Given the description of an element on the screen output the (x, y) to click on. 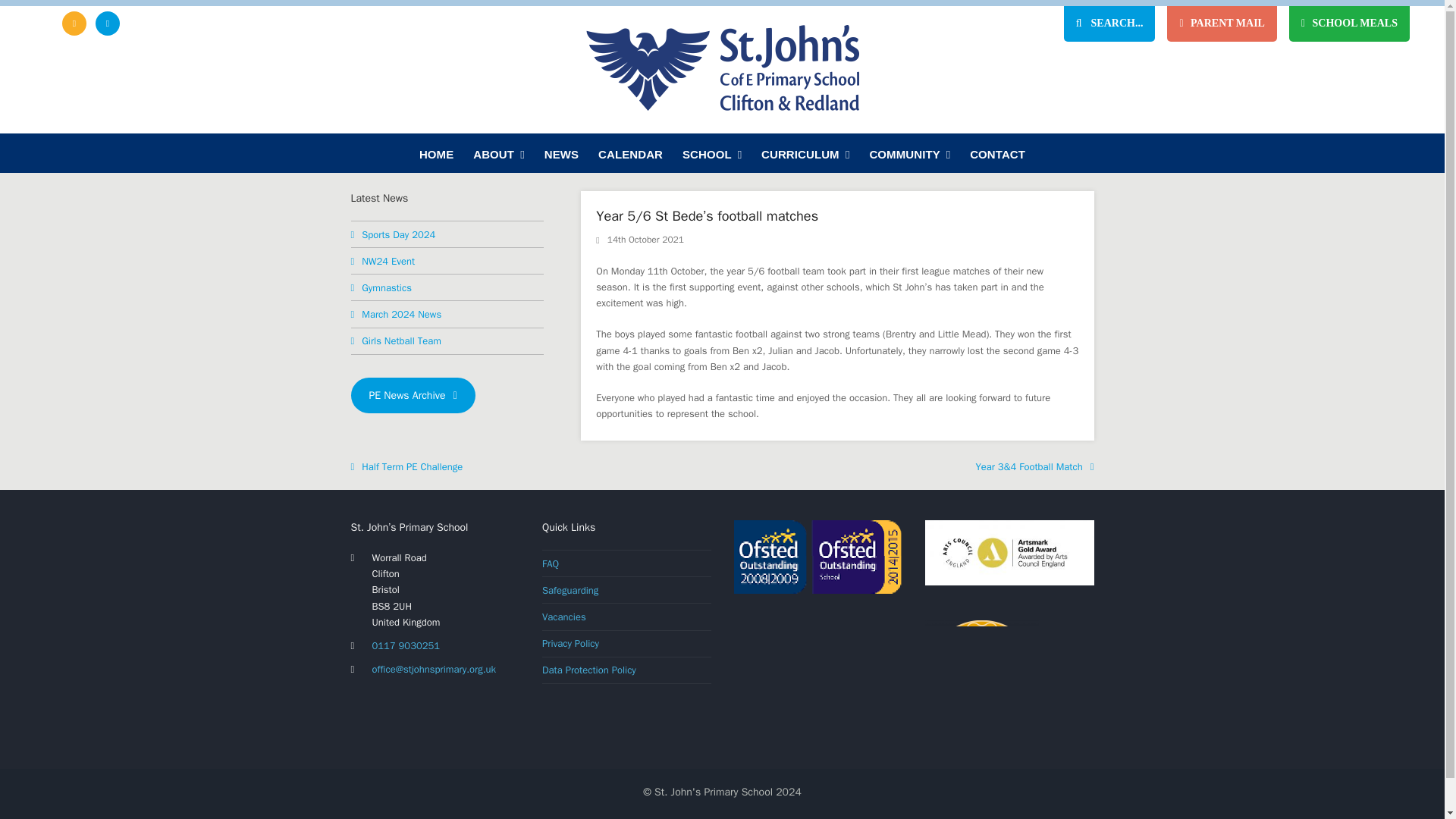
Older posts: click here (413, 395)
CALENDAR (630, 152)
CURRICULUM (804, 152)
ABOUT (498, 152)
SCHOOL (711, 152)
NEWS (560, 152)
HOME (435, 152)
